Given the description of an element on the screen output the (x, y) to click on. 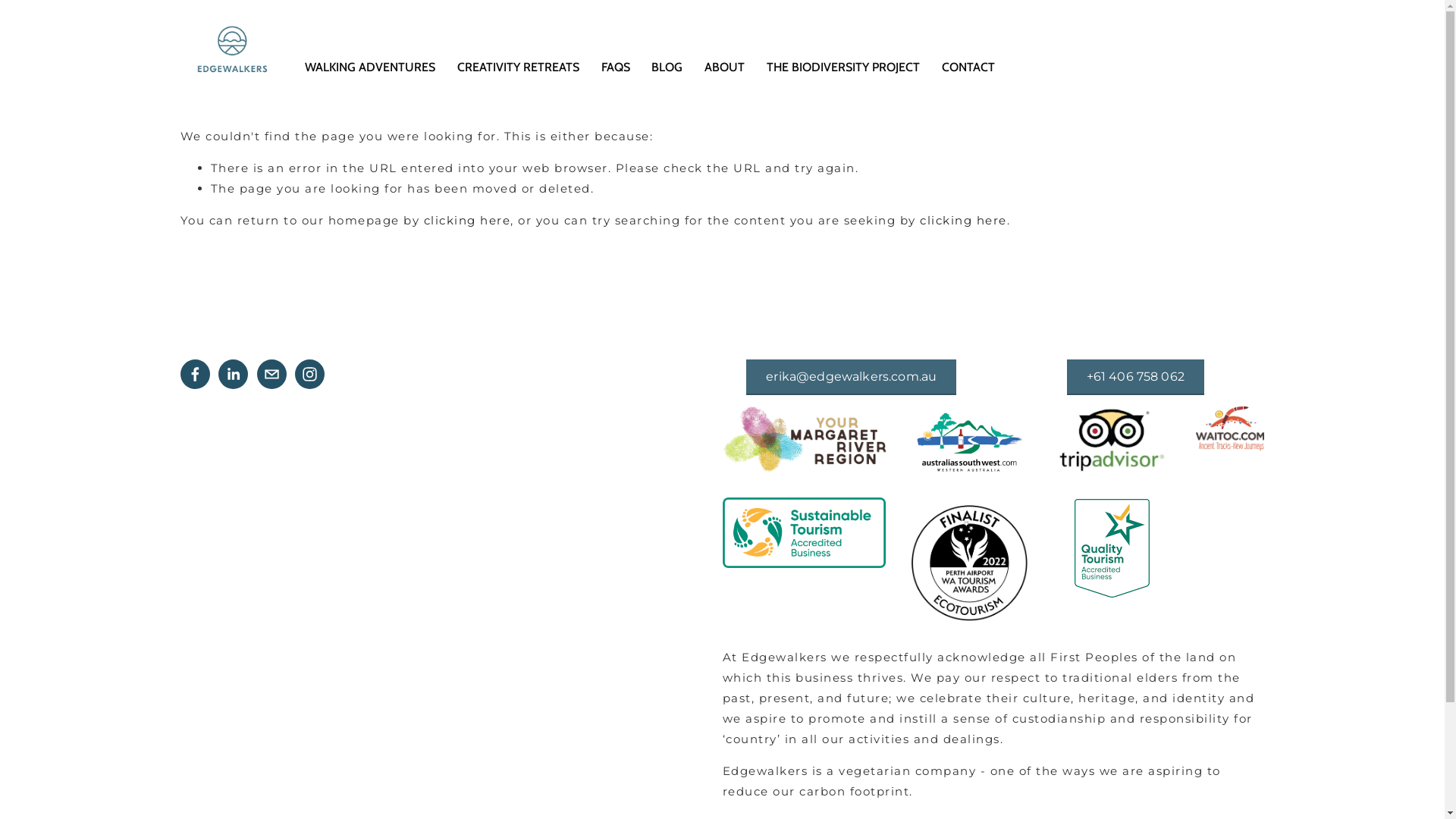
clicking here Element type: text (466, 220)
+61 406 758 062 Element type: text (1135, 376)
ABOUT Element type: text (724, 66)
CONTACT Element type: text (967, 66)
BLOG Element type: text (666, 66)
erika@edgewalkers.com.au Element type: text (851, 376)
WALKING ADVENTURES Element type: text (369, 66)
CREATIVITY RETREATS Element type: text (518, 66)
clicking here Element type: text (963, 220)
FAQS Element type: text (615, 66)
THE BIODIVERSITY PROJECT Element type: text (842, 66)
